Given the description of an element on the screen output the (x, y) to click on. 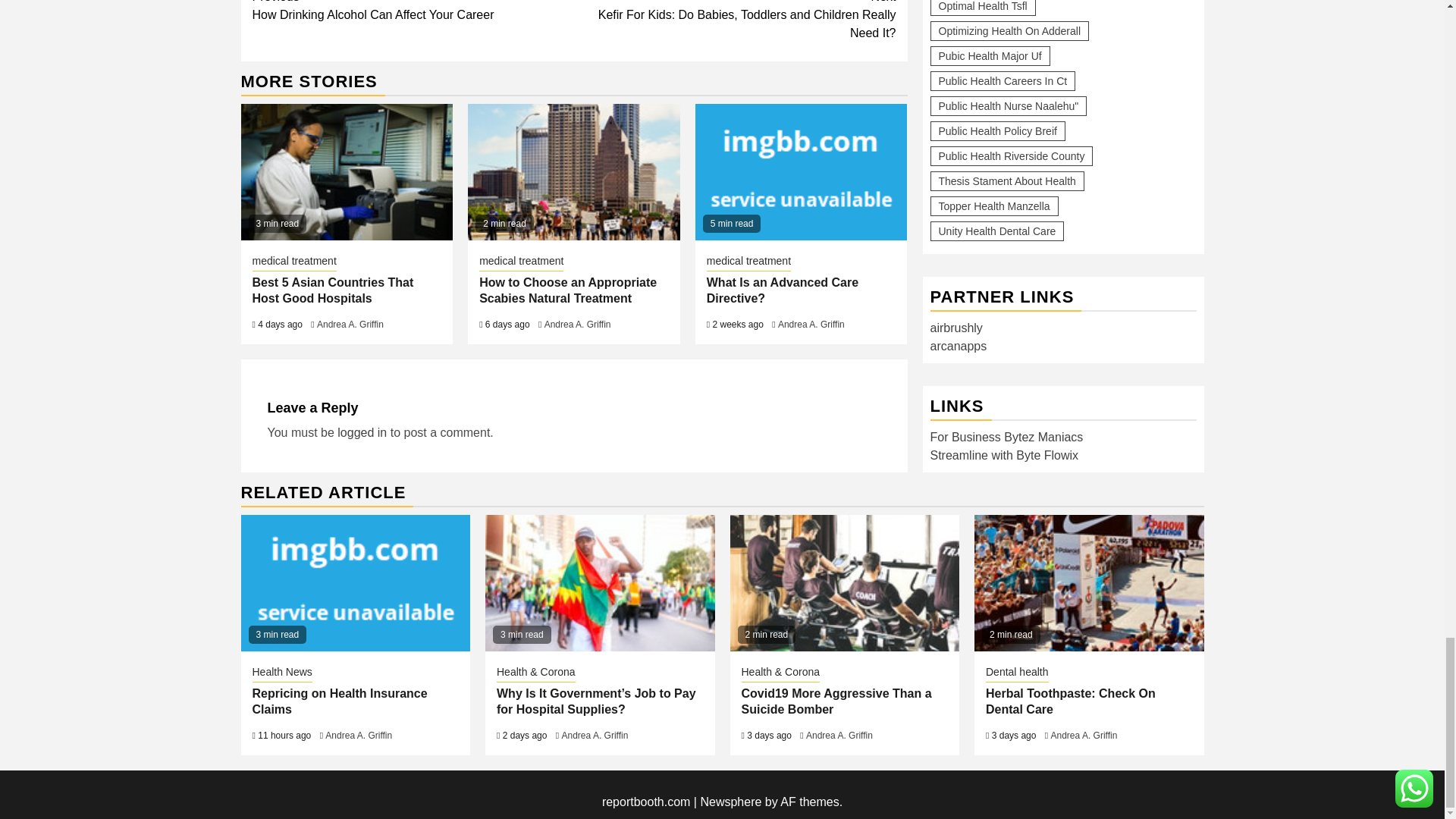
How to Choose an Appropriate Scabies Natural Treatment (573, 172)
Best 5 Asian Countries That Host Good Hospitals (346, 172)
